Given the description of an element on the screen output the (x, y) to click on. 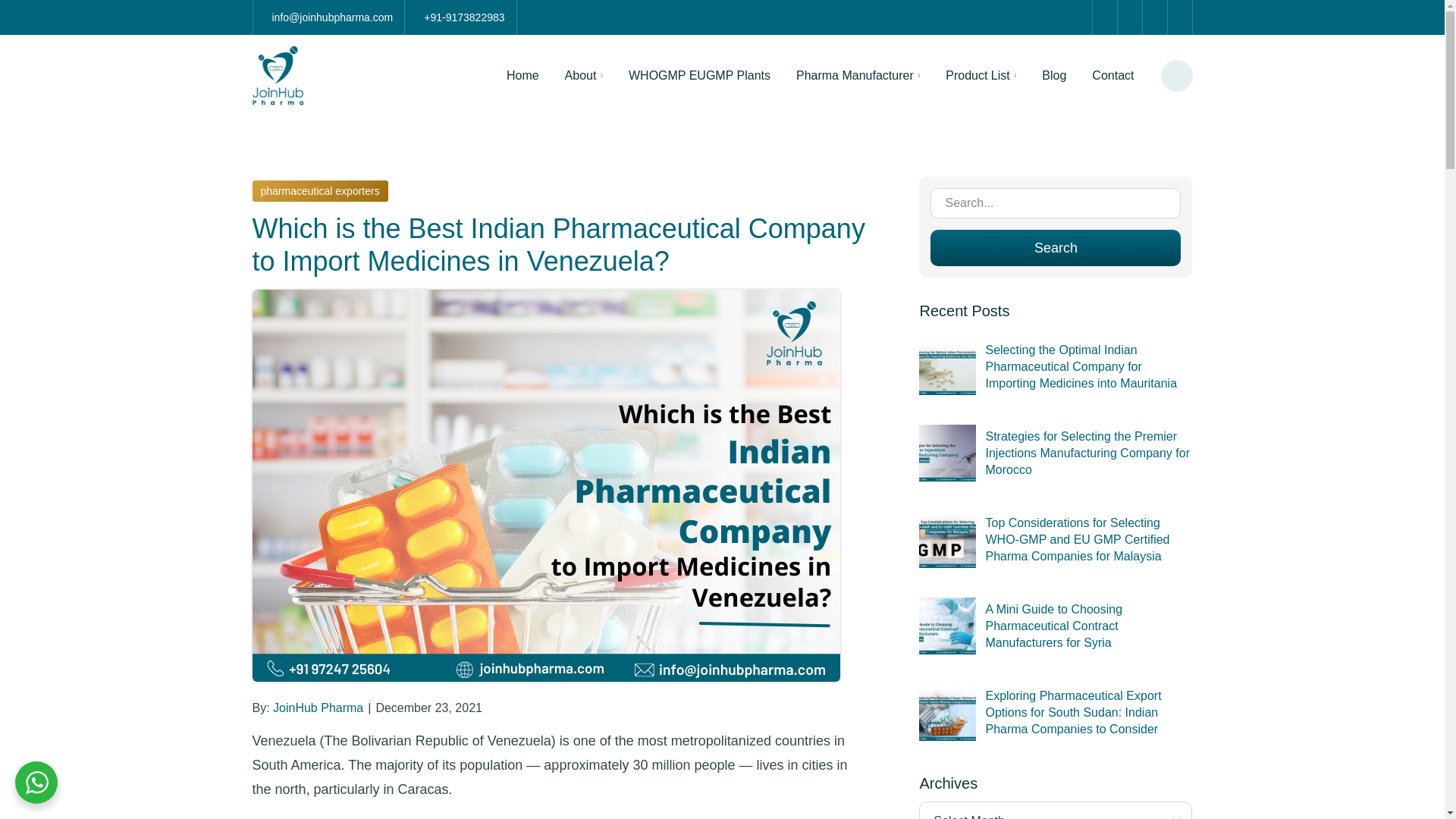
Blog (1054, 75)
Contact (1112, 75)
About Us (583, 75)
Product List (981, 75)
Home (522, 75)
About (583, 75)
Pharma Manufacturer (857, 75)
WHOGMP EUGMP Plants (699, 75)
Home (522, 75)
WHOGMP EUGMP Plants (699, 75)
Pharma Manufacturer (857, 75)
JoinHub Pharma (317, 708)
pharmaceutical exporters (319, 190)
